Given the description of an element on the screen output the (x, y) to click on. 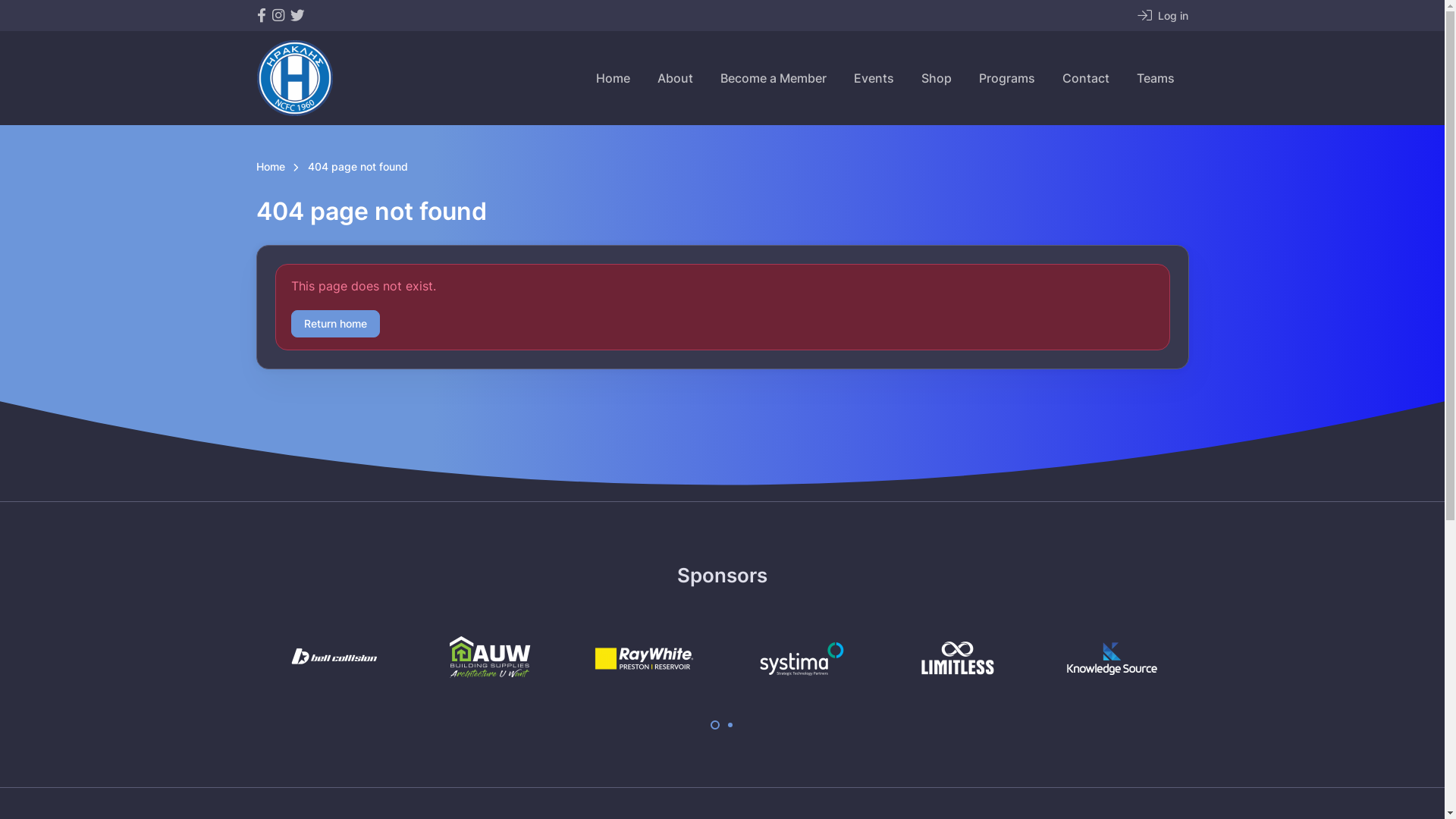
About Element type: text (674, 77)
Shop Element type: text (935, 77)
Log in Element type: text (1162, 15)
Home Element type: text (612, 77)
Home Element type: text (270, 167)
Northcote City Football Club on Instagram Element type: hover (277, 15)
Limitless Recycling Element type: hover (955, 658)
Bell Collision Element type: hover (333, 658)
Northcote City Football Club on Twitter Element type: hover (296, 15)
Ray White Element type: hover (644, 658)
Systima Element type: hover (799, 658)
Contact Element type: text (1085, 77)
Programs Element type: text (1006, 77)
Teams Element type: text (1154, 77)
Knowledge Source Element type: hover (1110, 658)
AUW Building Supplies Element type: hover (489, 658)
Northcote City Football Club on Facebook Element type: hover (260, 15)
Become a Member Element type: text (773, 77)
Return home Element type: text (335, 324)
Events Element type: text (873, 77)
